Given the description of an element on the screen output the (x, y) to click on. 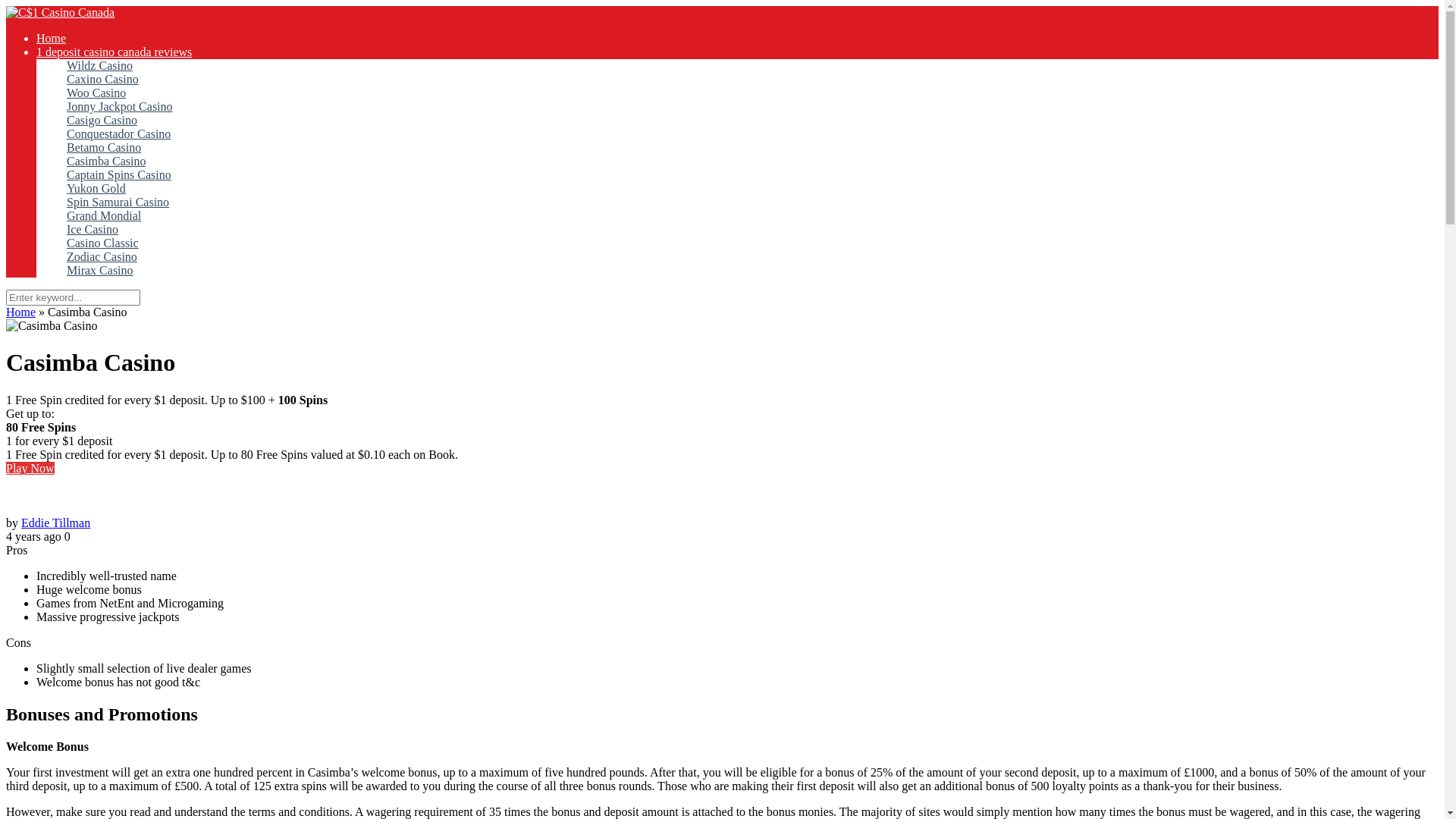
Conquestador Casino Element type: text (118, 134)
Eddie Tillman Element type: text (55, 522)
Play Now Element type: text (30, 467)
Jonny Jackpot Casino Element type: text (119, 106)
C$1 Casino Canada Element type: hover (60, 12)
Casimba Casino Element type: text (105, 161)
Zodiac Casino Element type: text (101, 256)
Captain Spins Casino Element type: text (118, 175)
1 deposit casino canada reviews Element type: text (113, 51)
Home Element type: text (50, 37)
Woo Casino Element type: text (95, 93)
Yukon Gold Element type: text (95, 188)
Mirax Casino Element type: text (99, 270)
Casino Classic Element type: text (102, 243)
Casigo Casino Element type: text (101, 120)
Grand Mondial Element type: text (103, 215)
Ice Casino Element type: text (92, 229)
Caxino Casino Element type: text (102, 79)
Betamo Casino Element type: text (103, 147)
Wildz Casino Element type: text (99, 65)
Spin Samurai Casino Element type: text (117, 202)
Home Element type: text (20, 311)
